Given the description of an element on the screen output the (x, y) to click on. 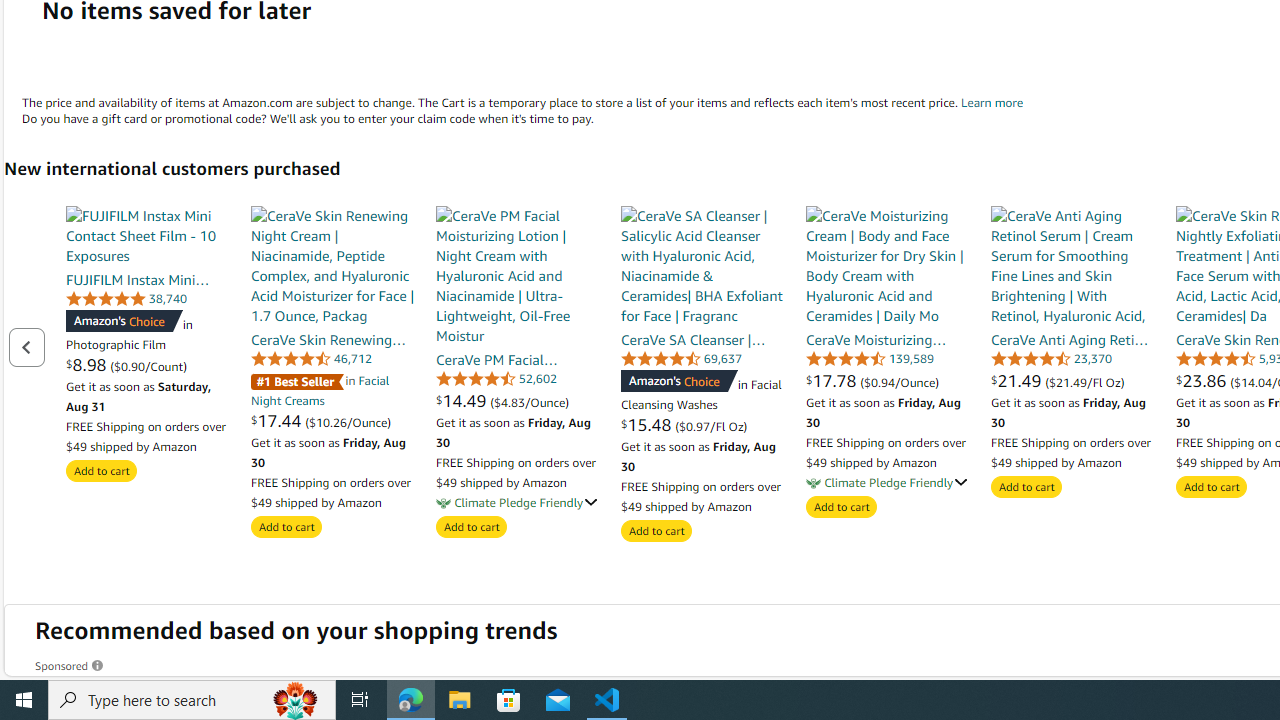
Climate Pledge Friendly (813, 483)
$21.49  (1017, 379)
Shopping Cart Learn more (992, 102)
$14.49  (463, 399)
$17.78  (833, 379)
($0.94/Ounce) (899, 381)
FUJIFILM Instax Mini Contact Sheet Film - 10 Exposures (148, 235)
